Given the description of an element on the screen output the (x, y) to click on. 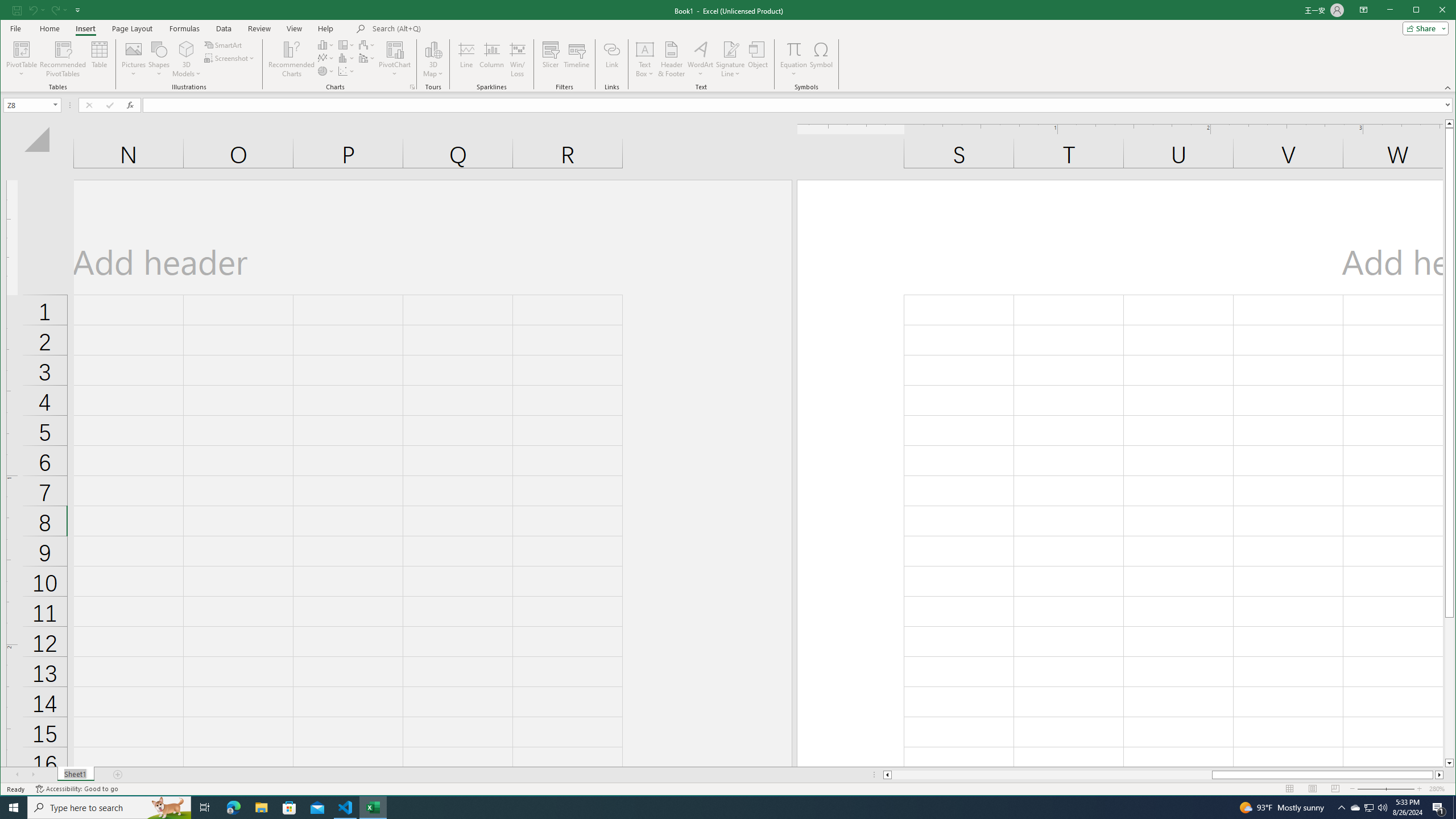
Page left (1051, 774)
3D Map (432, 48)
Signature Line (729, 48)
SmartArt... (224, 44)
Insert Combo Chart (366, 57)
Recommended Charts (411, 86)
Shapes (159, 59)
